Given the description of an element on the screen output the (x, y) to click on. 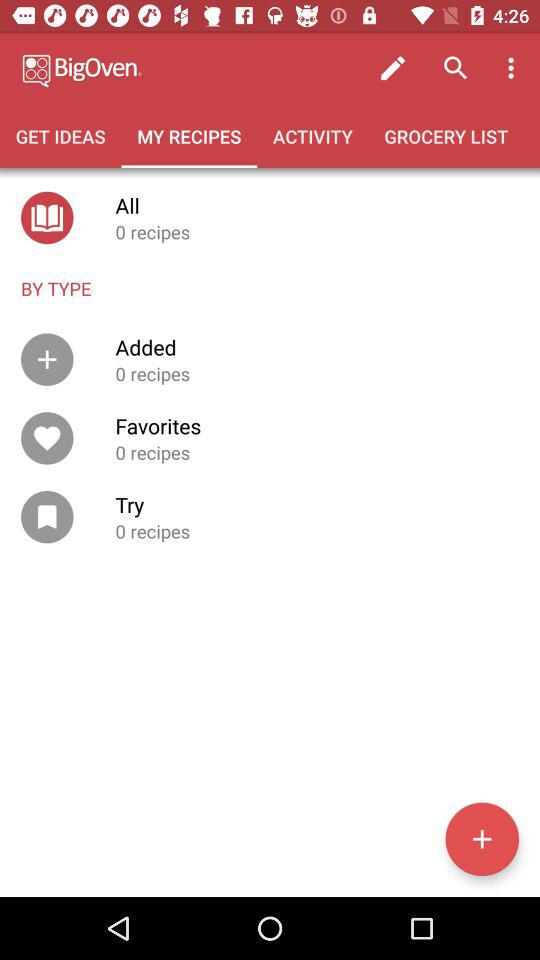
go to icon left side to try option (47, 516)
